Given the description of an element on the screen output the (x, y) to click on. 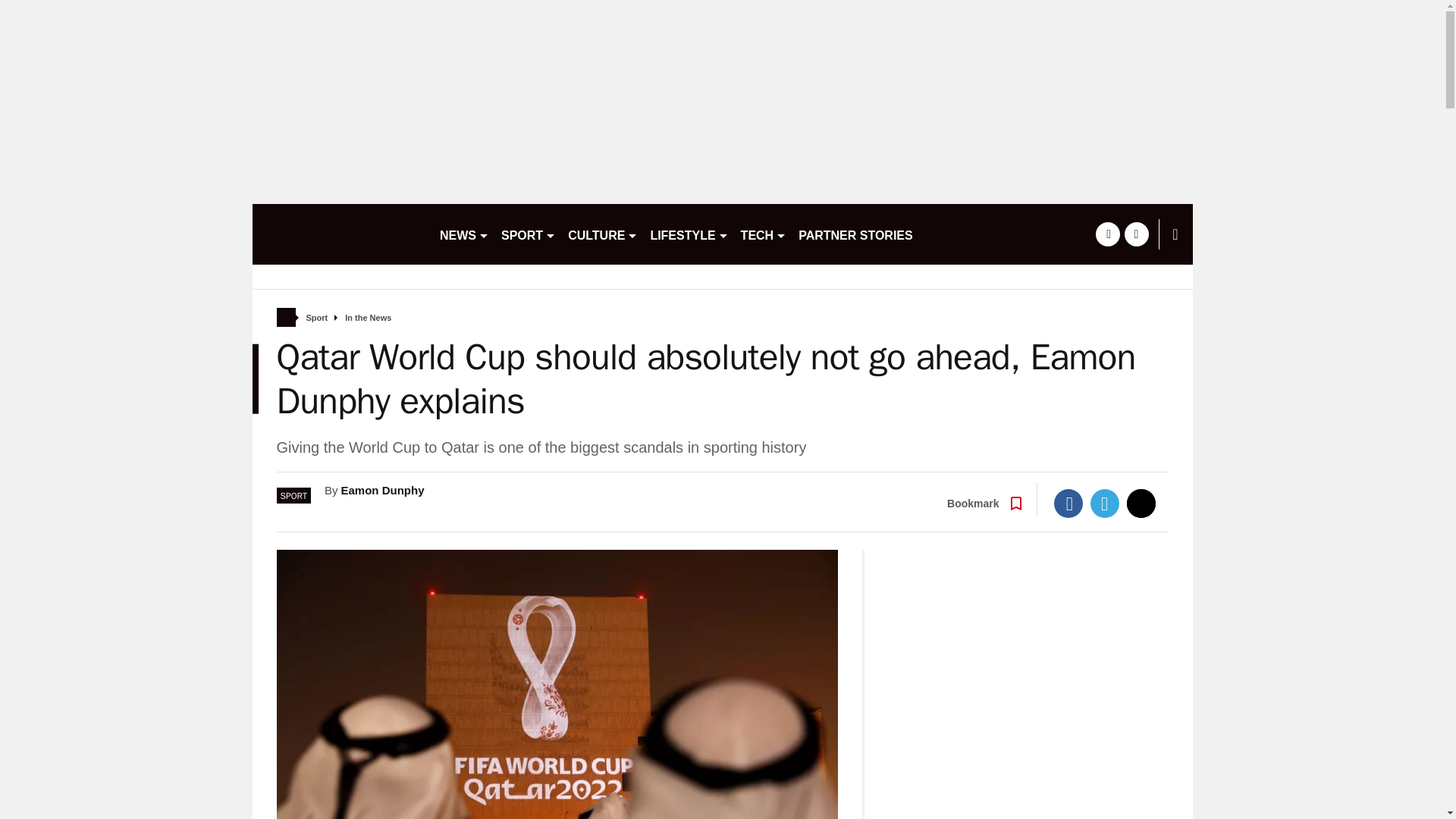
Twitter (1104, 502)
CULTURE (602, 233)
buzz (338, 233)
PARTNER STORIES (855, 233)
TECH (764, 233)
NEWS (464, 233)
facebook (1106, 233)
LIFESTYLE (688, 233)
Facebook (1068, 502)
SPORT (528, 233)
